Given the description of an element on the screen output the (x, y) to click on. 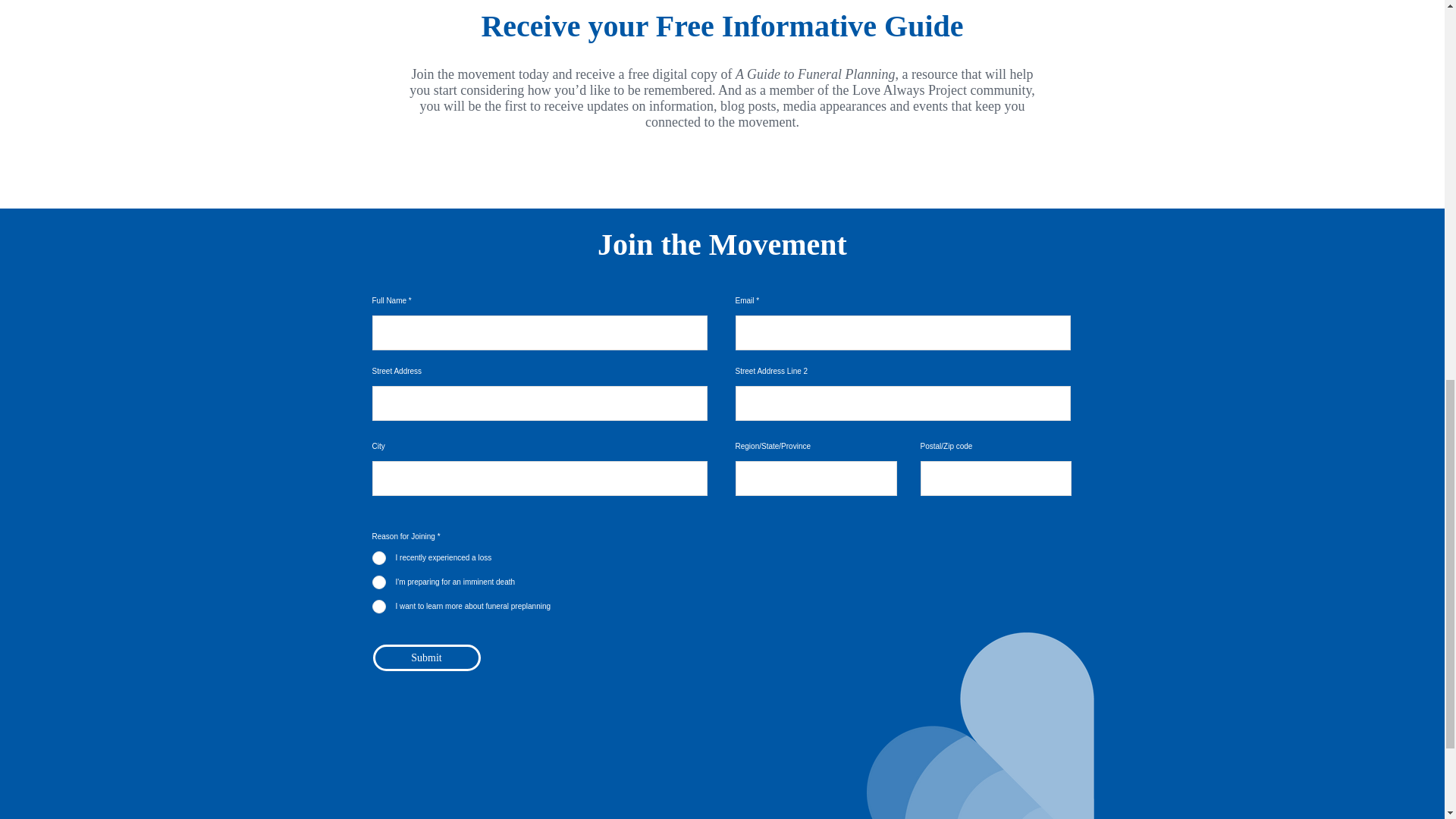
Submit (426, 657)
